Given the description of an element on the screen output the (x, y) to click on. 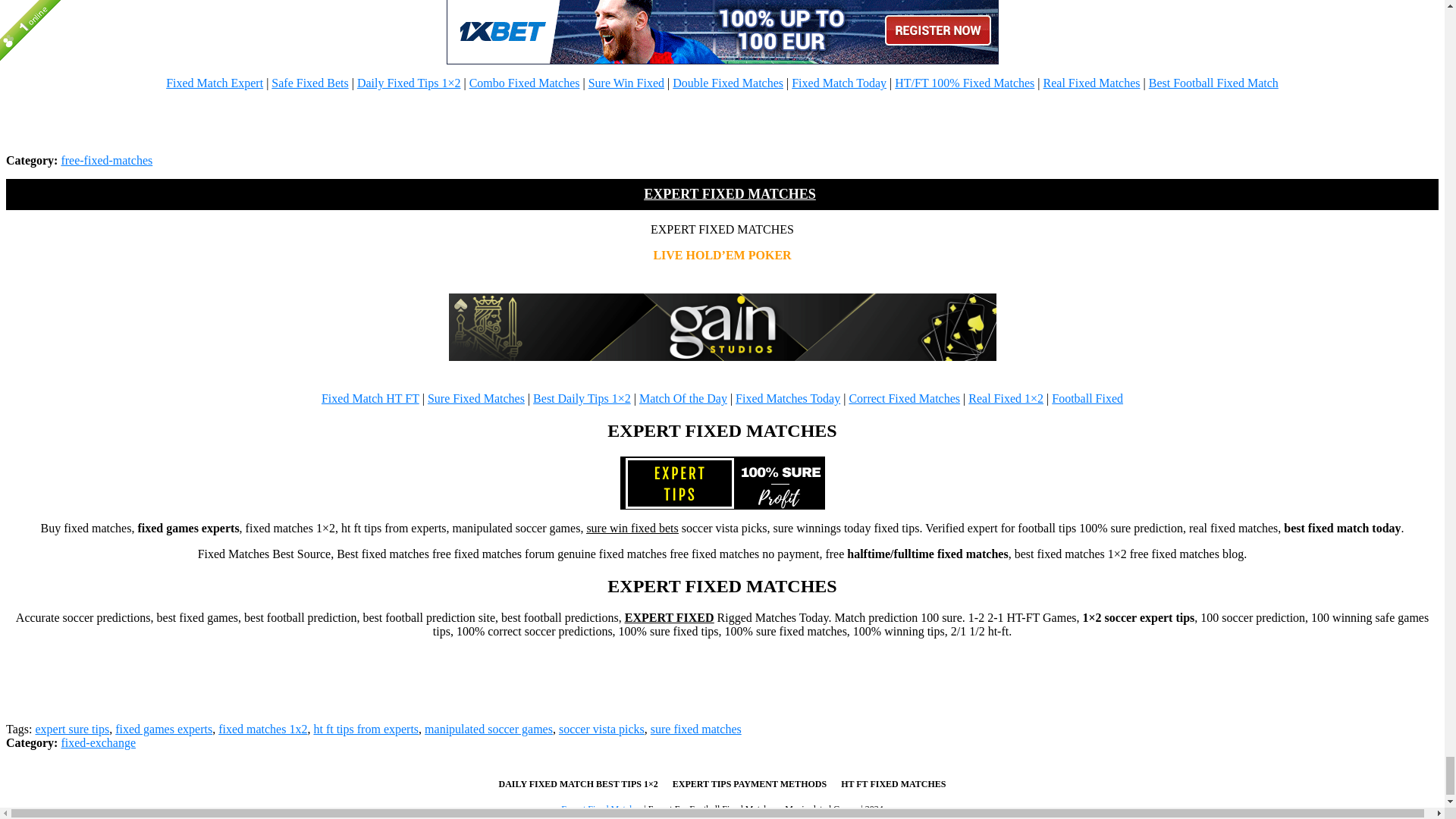
EXPERT FIXED MATCHES (722, 482)
